Given the description of an element on the screen output the (x, y) to click on. 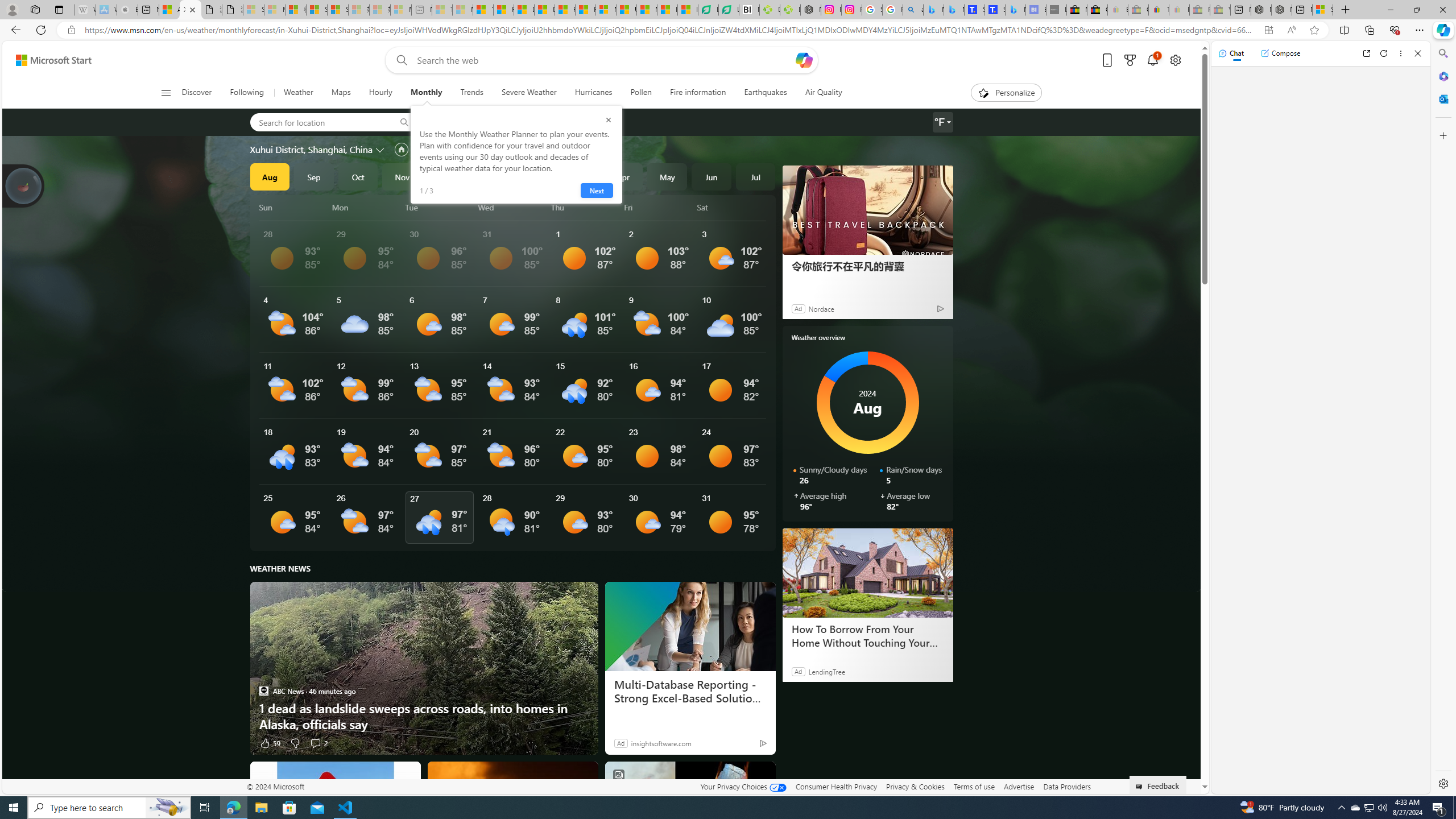
See More Details (731, 517)
Wed (512, 207)
Earthquakes (765, 92)
Shangri-La Bangkok, Hotel reviews and Room rates (994, 9)
May (667, 176)
